Given the description of an element on the screen output the (x, y) to click on. 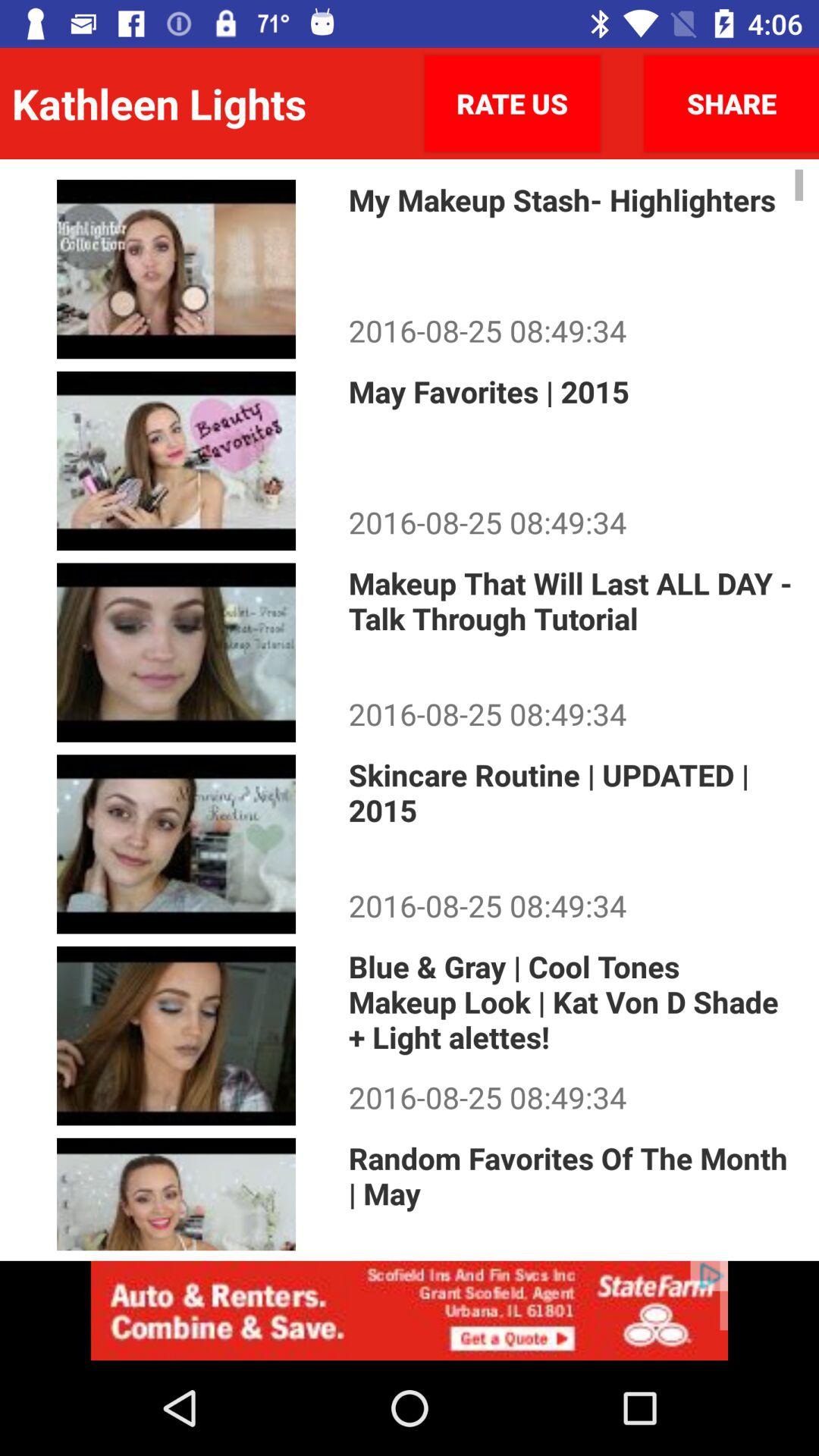
click to view advertisements options (409, 1310)
